Given the description of an element on the screen output the (x, y) to click on. 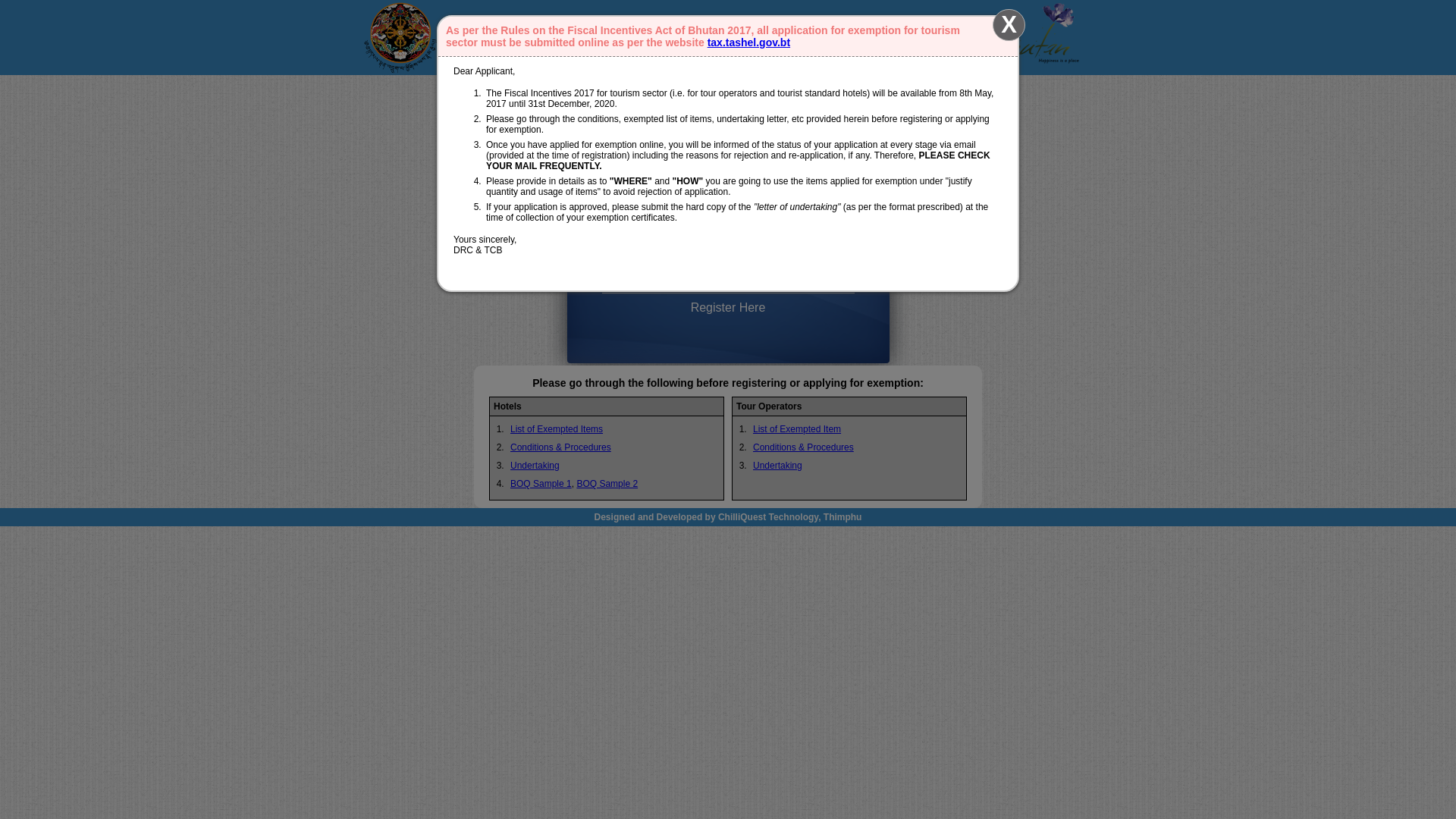
Undertaking Element type: text (777, 465)
BOQ Sample 1 Element type: text (540, 483)
tax.tashel.gov.bt Element type: text (748, 42)
BOQ Sample 2 Element type: text (606, 483)
X Element type: text (1008, 24)
Undertaking Element type: text (534, 465)
Conditions & Procedures Element type: text (560, 447)
List of Exempted Items Element type: text (556, 428)
Register Here Element type: text (727, 307)
Username Element type: hover (751, 174)
Conditions & Procedures Element type: text (803, 447)
List of Exempted Item Element type: text (796, 428)
Designed and Developed by ChilliQuest Technology, Thimphu Element type: text (728, 516)
